Given the description of an element on the screen output the (x, y) to click on. 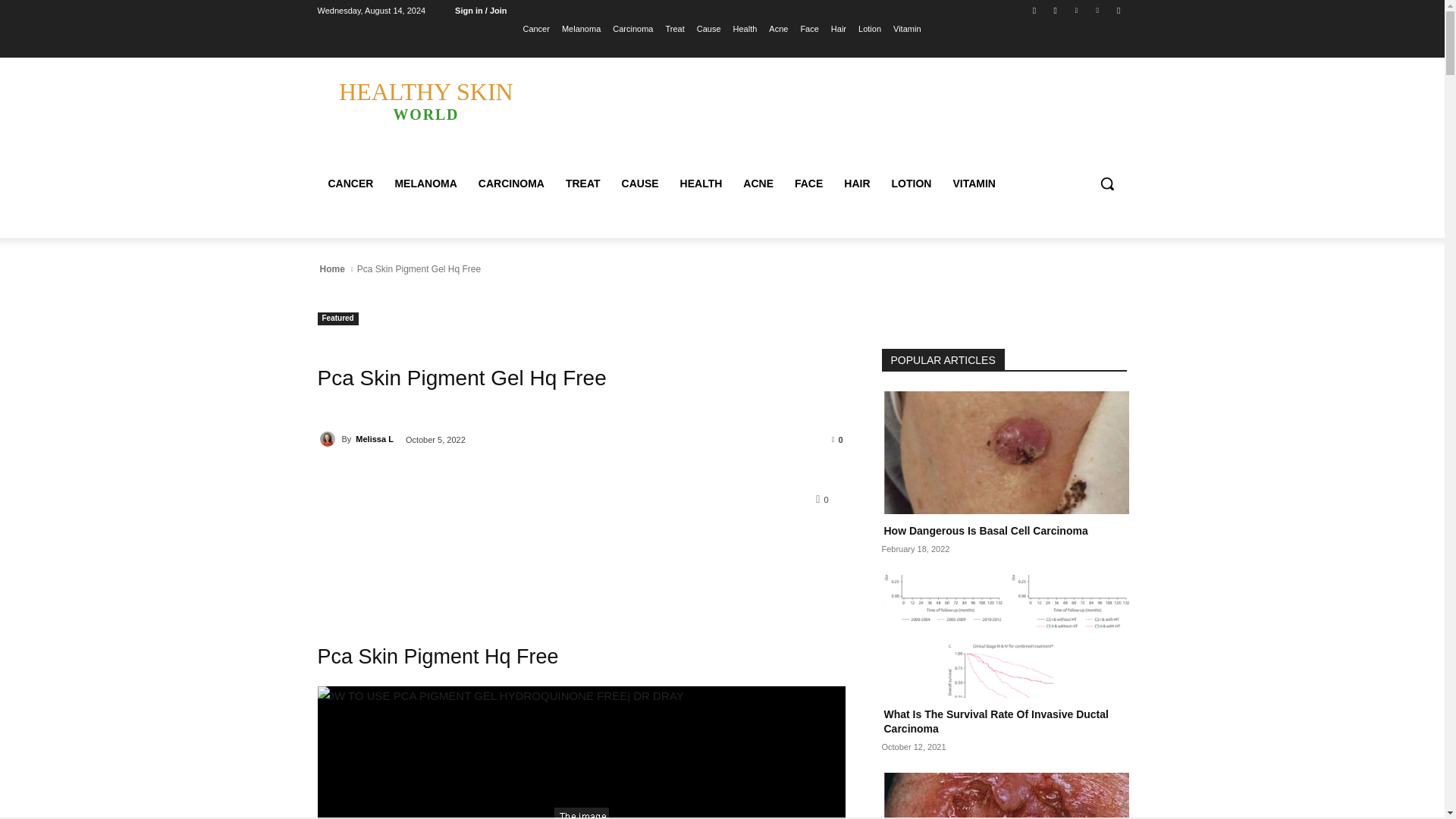
Cause (708, 28)
Instagram (1055, 9)
Twitter (1075, 9)
Carcinoma (632, 28)
Lotion (869, 28)
Acne (777, 28)
Youtube (1117, 9)
Health (745, 28)
Treat (674, 28)
Melissa L (328, 438)
